Given the description of an element on the screen output the (x, y) to click on. 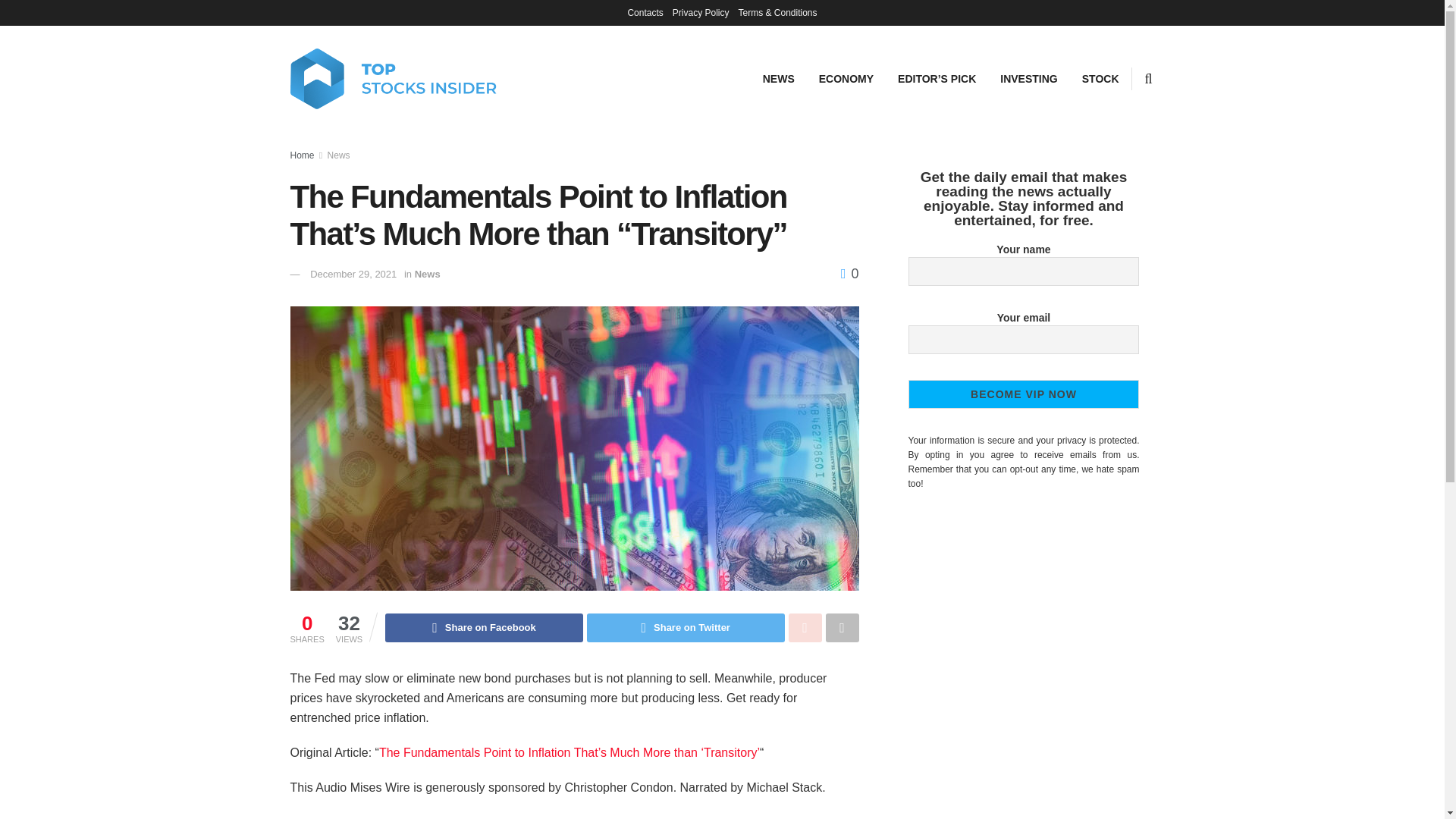
STOCK (1100, 78)
Share on Twitter (685, 627)
Become VIP Now (1024, 393)
INVESTING (1028, 78)
0 (850, 273)
December 29, 2021 (353, 274)
Home (301, 154)
Privacy Policy (700, 12)
ECONOMY (845, 78)
News (427, 274)
